Given the description of an element on the screen output the (x, y) to click on. 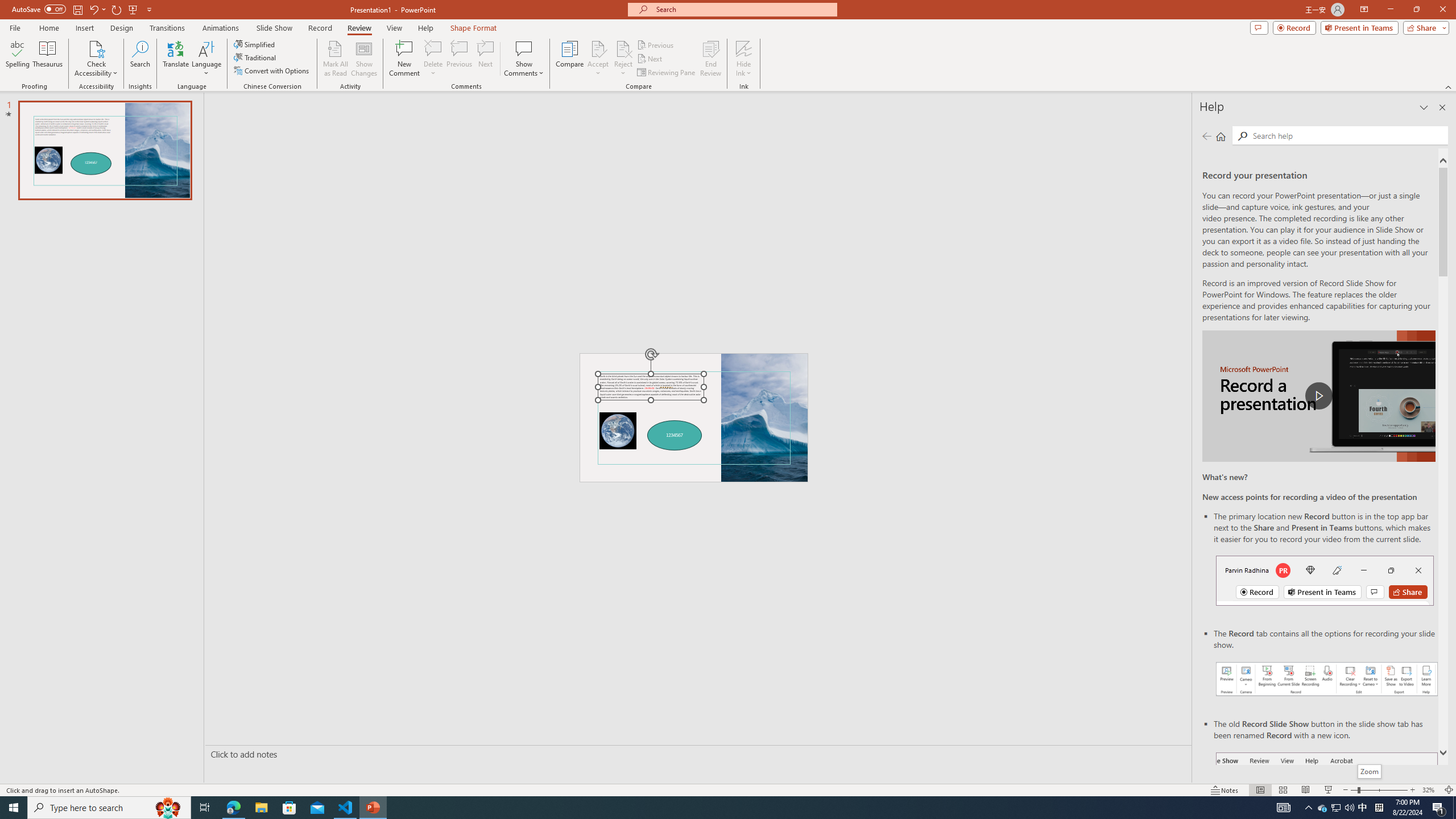
Reject (622, 58)
Simplified (254, 44)
Accept Change (598, 48)
